Given the description of an element on the screen output the (x, y) to click on. 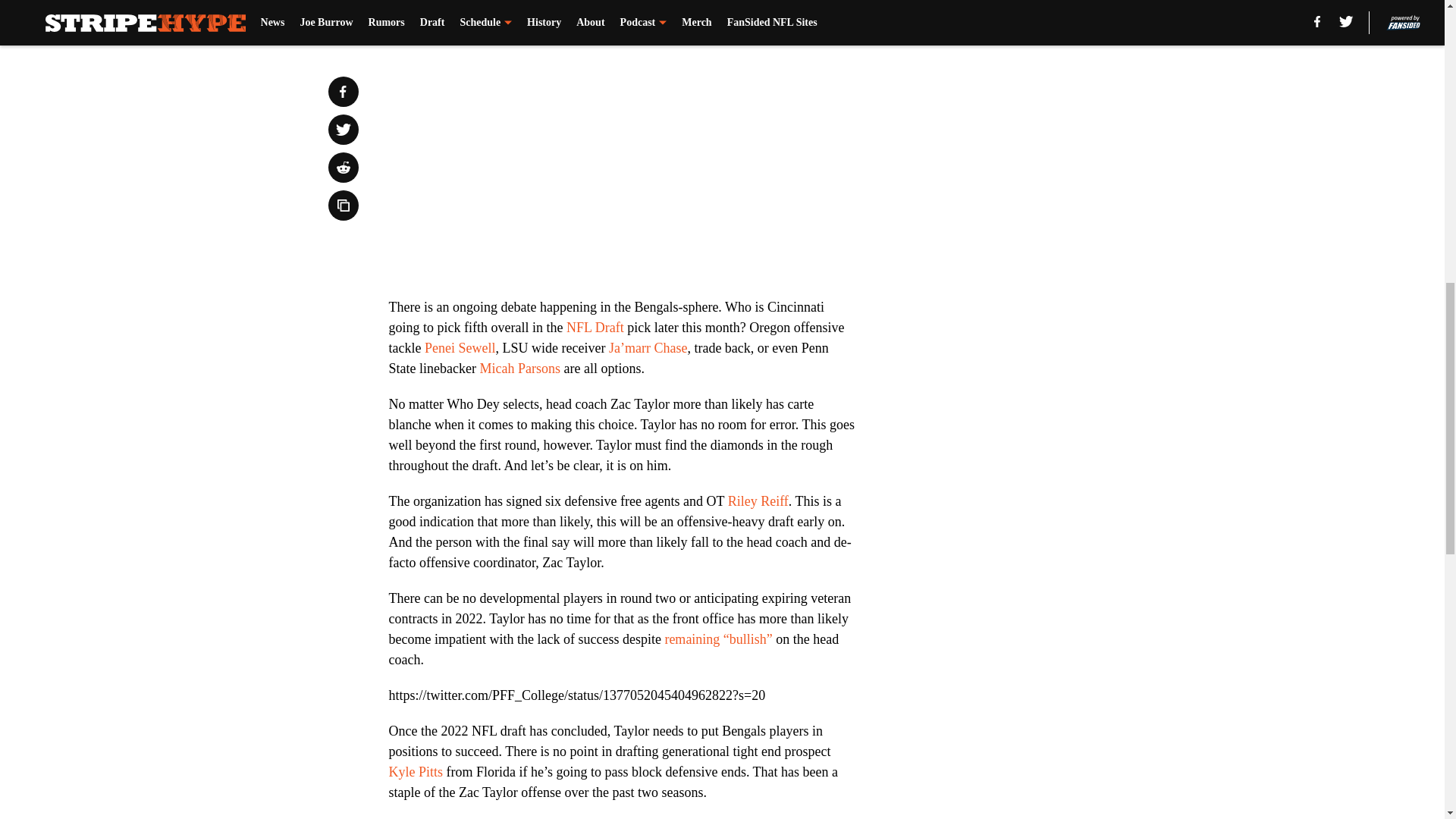
Penei Sewell (460, 347)
NFL Draft (595, 327)
Micah Parsons (519, 368)
Riley Reiff (758, 500)
Kyle Pitts (415, 771)
